Given the description of an element on the screen output the (x, y) to click on. 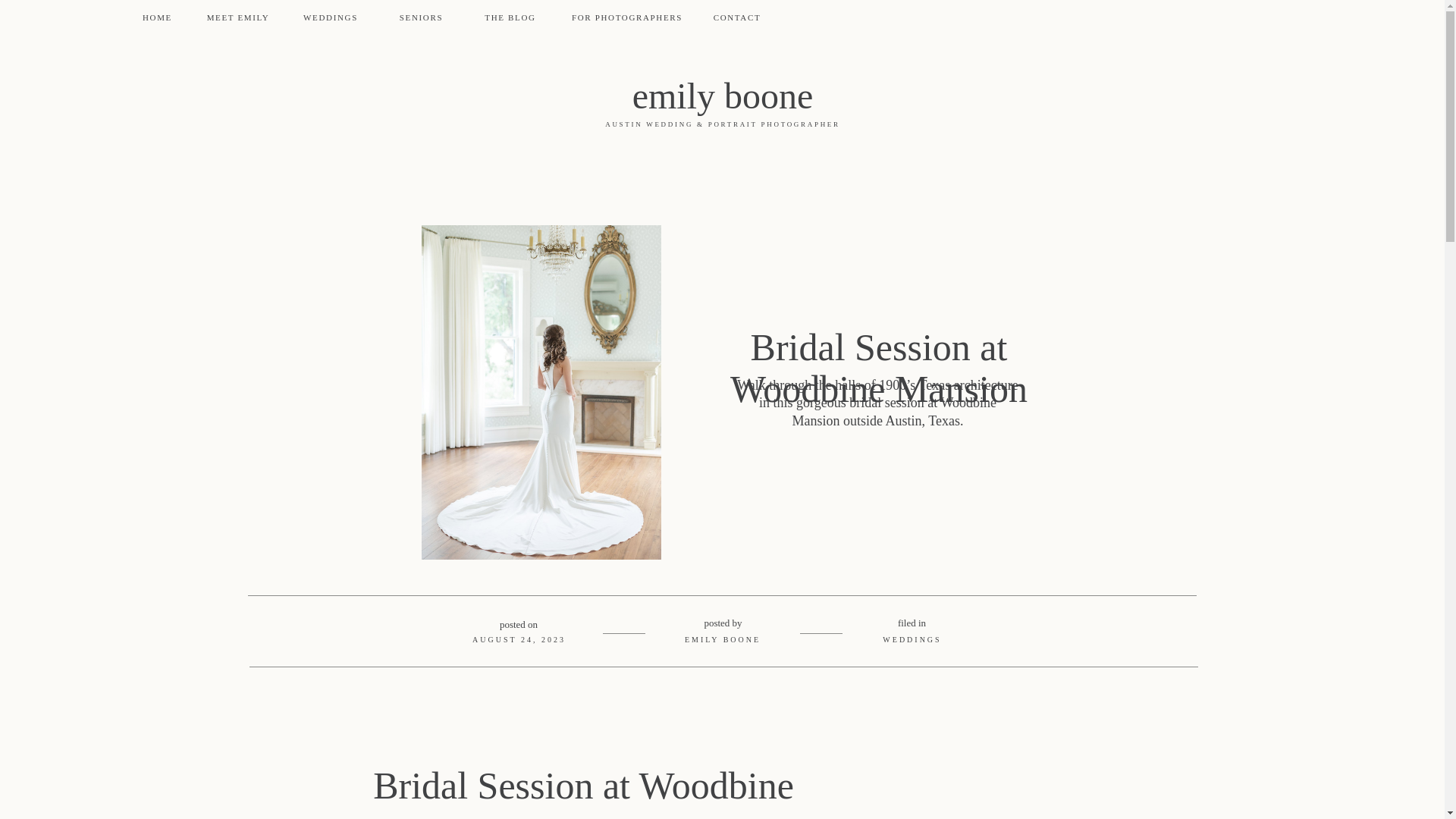
MEET EMILY (237, 18)
WEDDINGS (330, 18)
SENIORS (421, 18)
FOR PHOTOGRAPHERS (626, 18)
WEDDINGS (911, 639)
HOME (157, 18)
emily boone (722, 97)
CONTACT (737, 18)
THE BLOG (510, 18)
